Given the description of an element on the screen output the (x, y) to click on. 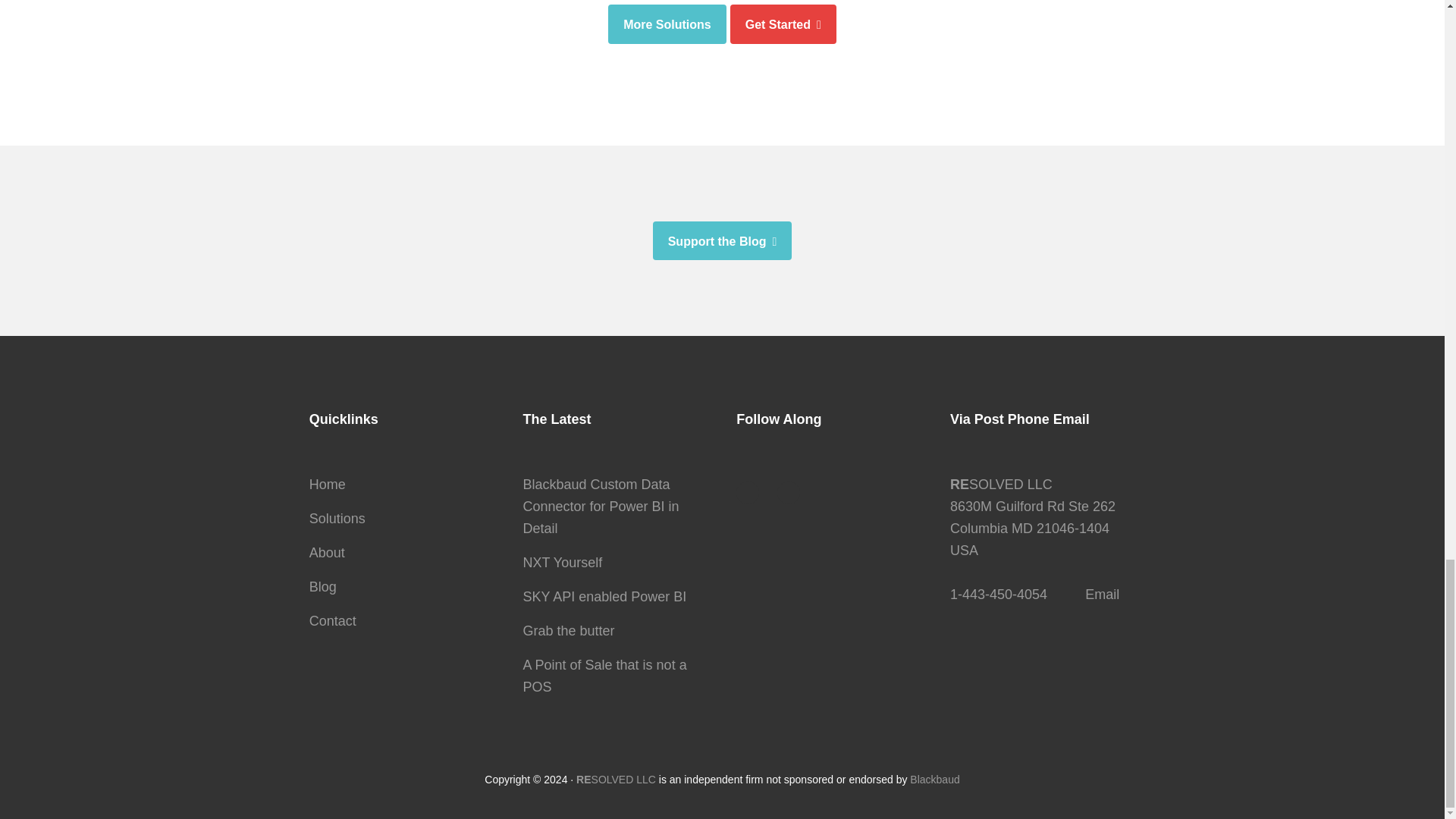
More Solutions (667, 24)
NXT Yourself (562, 562)
Support the Blog (722, 241)
Blackbaud (934, 779)
Home (327, 484)
1-443-450-4054 (998, 594)
Solutions (336, 518)
Email (1101, 594)
RESOLVED LLC (616, 779)
Contact (332, 620)
